Given the description of an element on the screen output the (x, y) to click on. 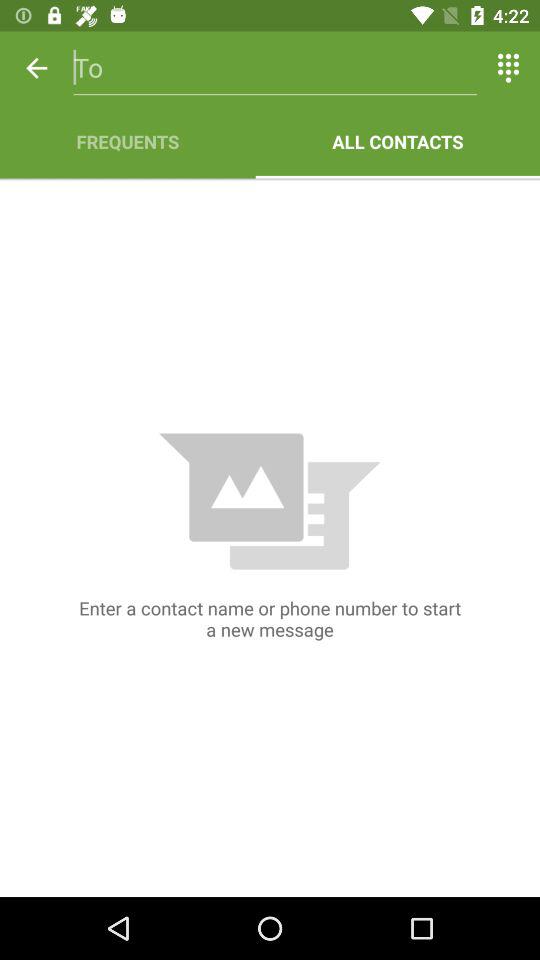
turn on the icon to the left of the all contacts app (127, 141)
